Given the description of an element on the screen output the (x, y) to click on. 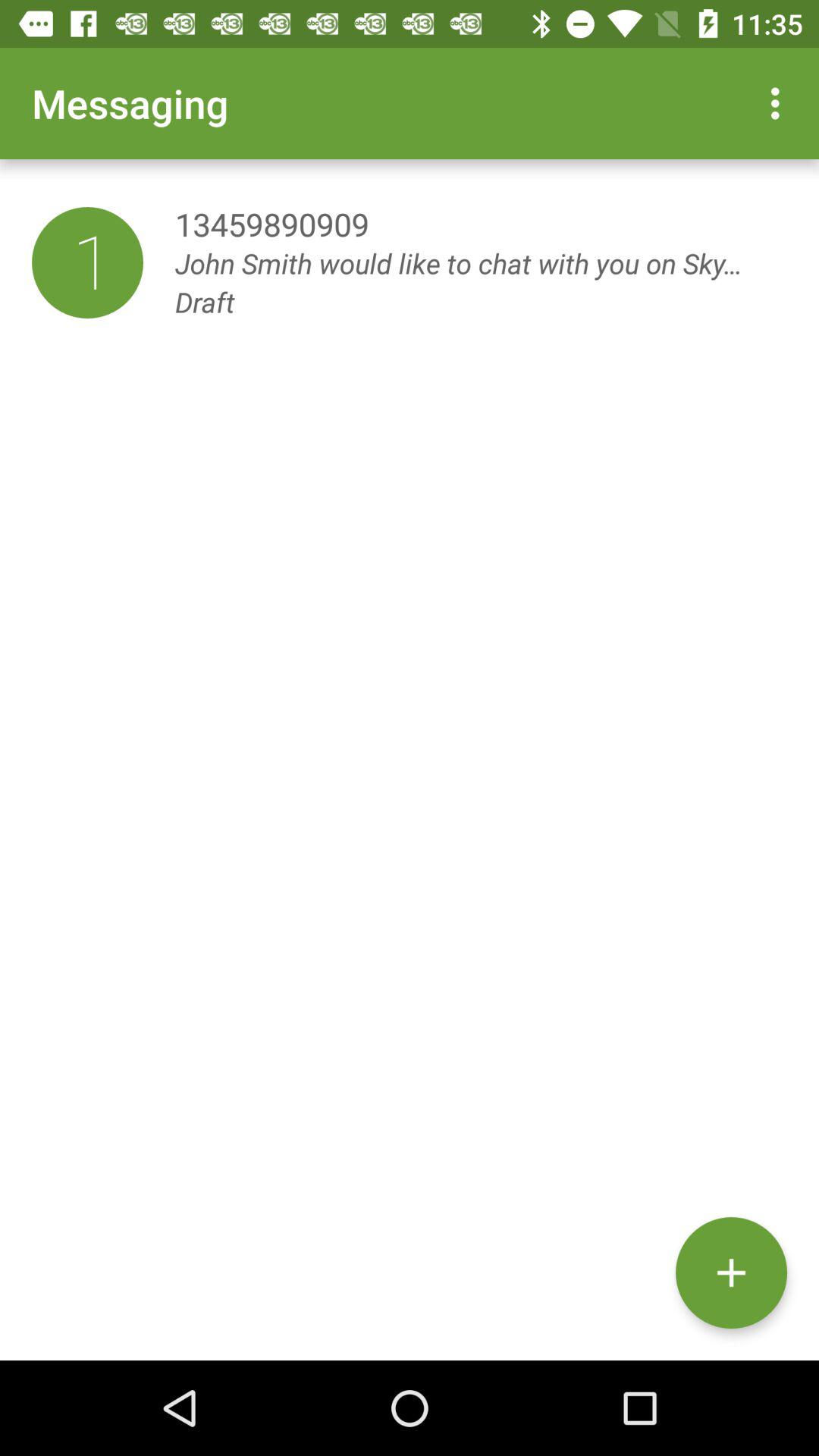
press the item below john smith would item (731, 1272)
